Given the description of an element on the screen output the (x, y) to click on. 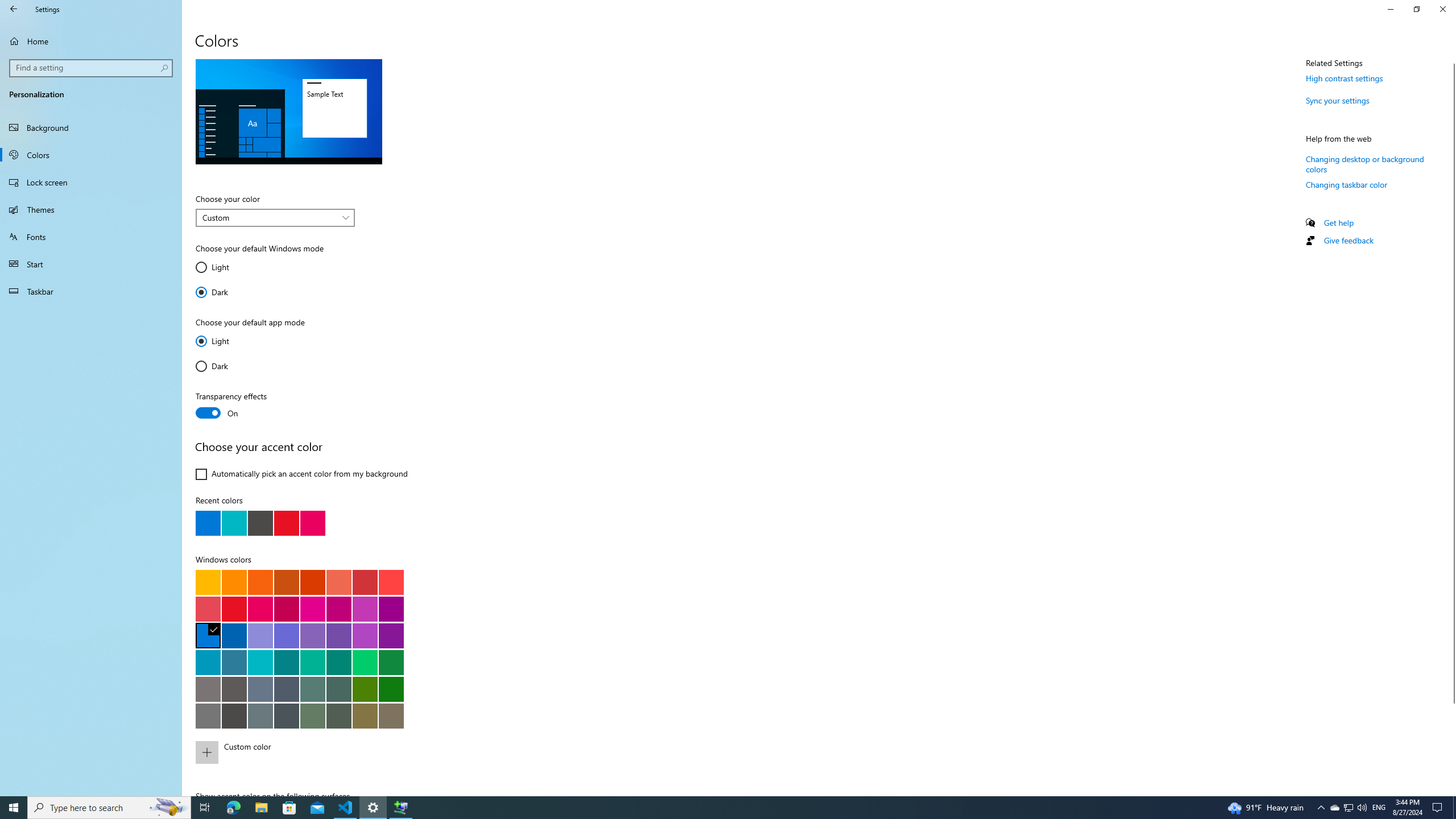
Changing desktop or background colors (1364, 163)
Gray dark (285, 715)
Metal blue (285, 688)
Sage (338, 715)
Mod red (390, 581)
Cool blue (234, 661)
Purple shadow dark (285, 635)
Taskbar (91, 290)
Blue gray (260, 715)
Default blue (208, 635)
Pale red (208, 608)
Brick red (364, 581)
